Given the description of an element on the screen output the (x, y) to click on. 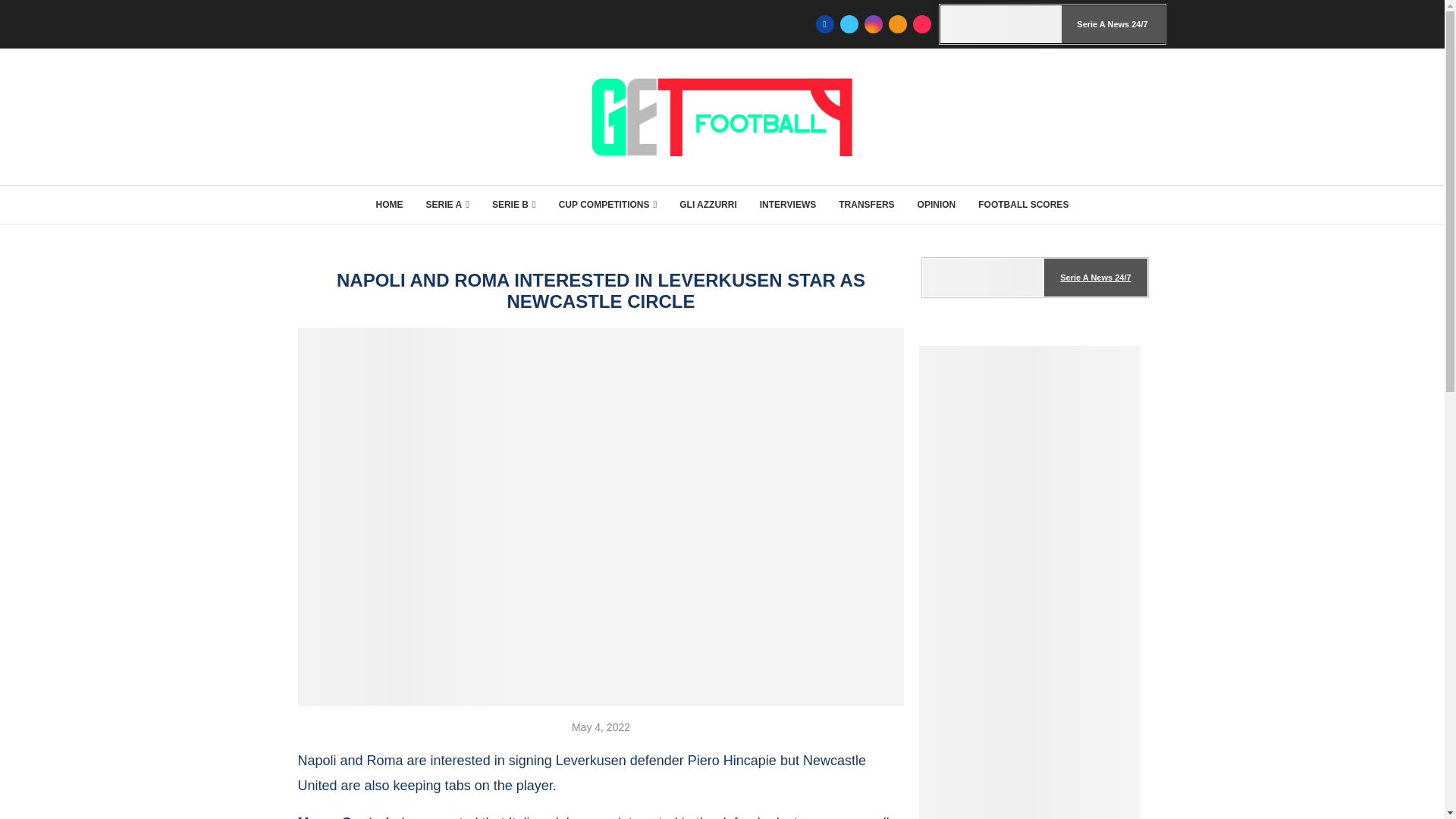
SERIE B (513, 204)
Click here for more Italian football news from NewsNow (1052, 24)
Click here for more Italian football news from NewsNow (1034, 277)
HOME (389, 204)
SERIE A (447, 204)
